Given the description of an element on the screen output the (x, y) to click on. 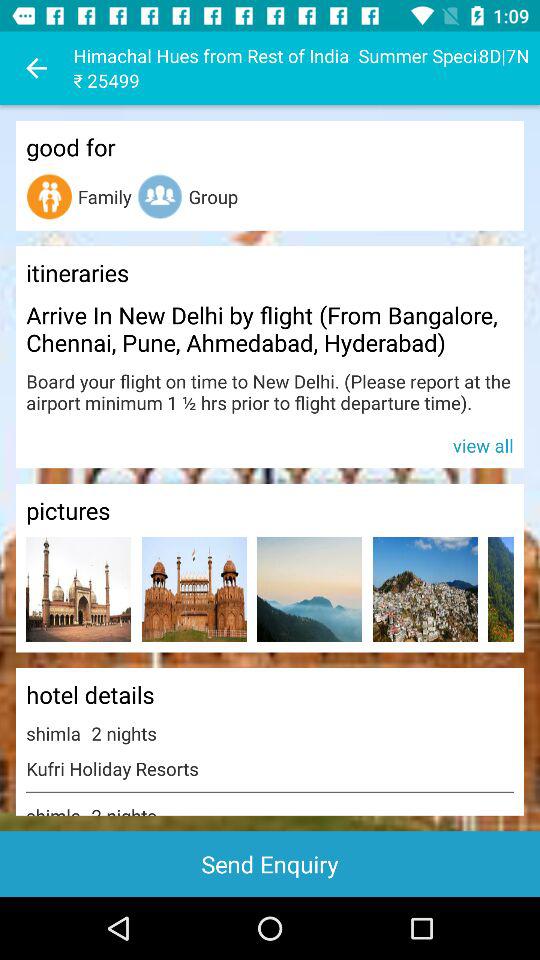
select picture to enlarge (500, 589)
